Given the description of an element on the screen output the (x, y) to click on. 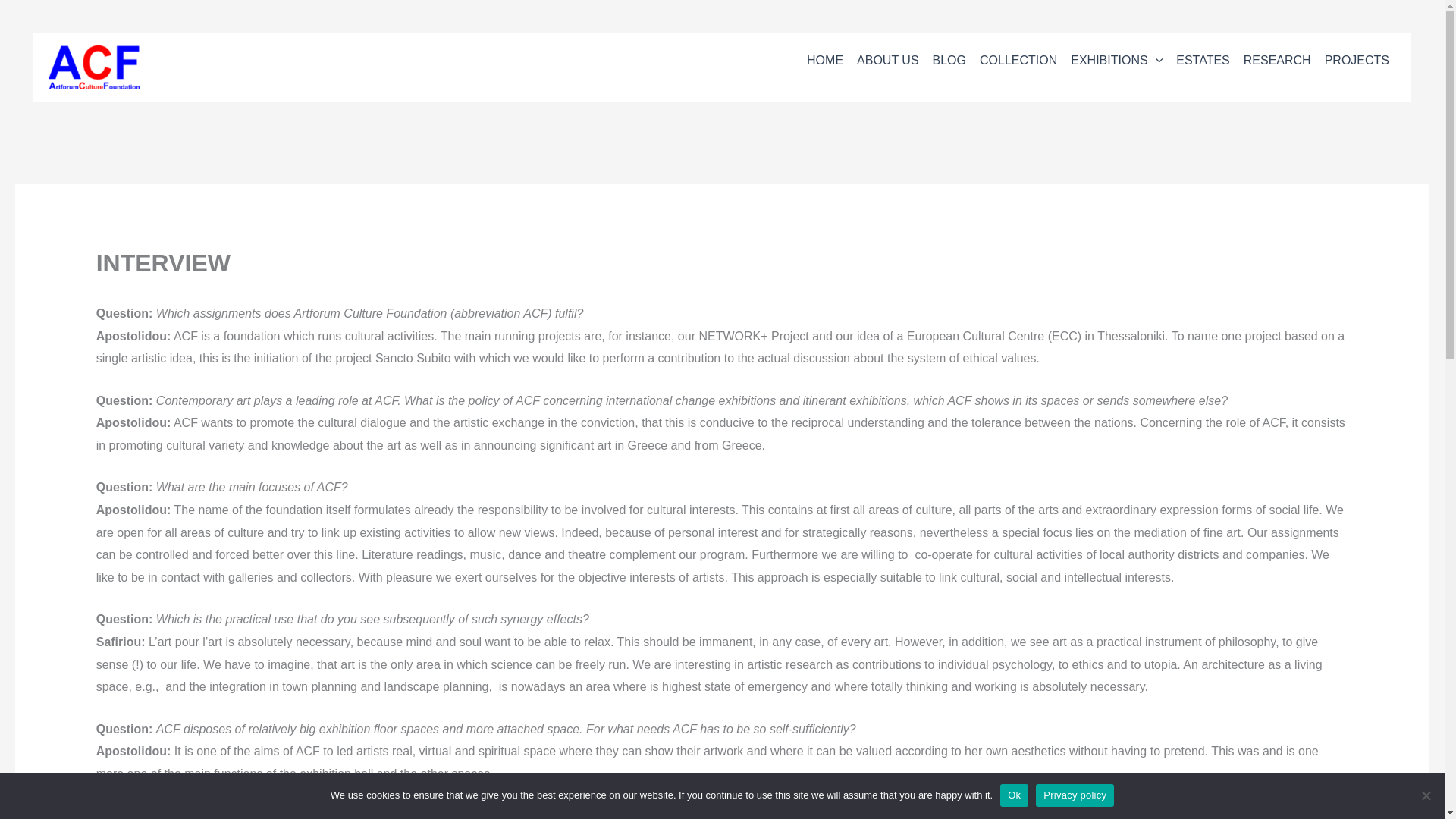
No (1425, 795)
ESTATES (1202, 64)
HOME (824, 64)
RESEARCH (1276, 64)
PROJECTS (1356, 64)
BLOG (949, 64)
EXHIBITIONS (1116, 64)
Ok (1013, 794)
Privacy policy (1074, 794)
ABOUT US (888, 64)
COLLECTION (1018, 64)
